Given the description of an element on the screen output the (x, y) to click on. 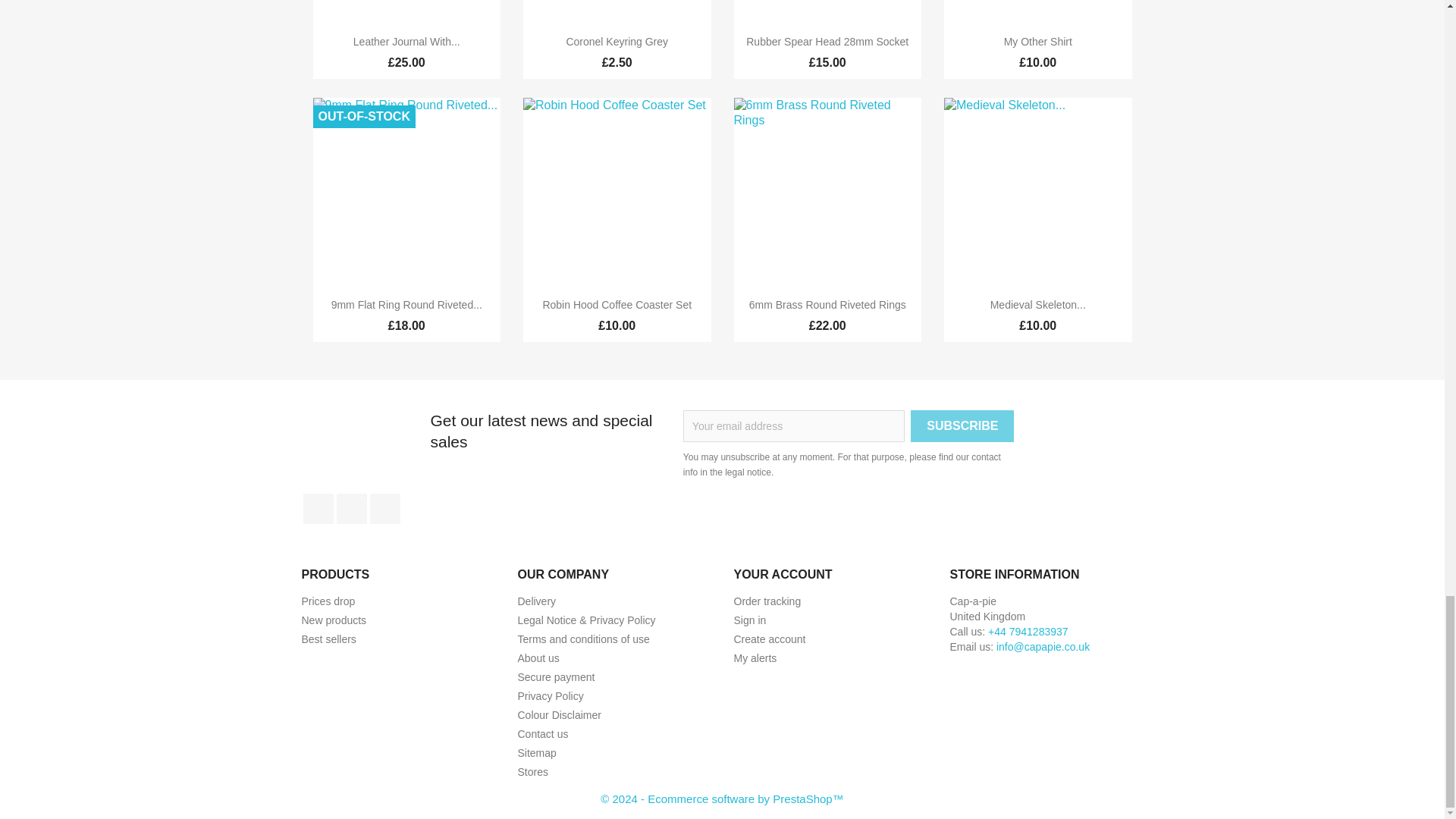
Lost ? Find what your are looking for (536, 752)
Our terms and conditions of delivery (536, 601)
Learn more about us (537, 657)
Privacy Policy (549, 695)
Our secure payment method (555, 676)
Subscribe (962, 426)
Colour Disclaimer (557, 715)
Our terms and conditions of use (582, 639)
Our new products (333, 620)
Use our form to contact us (541, 734)
Our best sales (328, 639)
Our special products (328, 601)
